Given the description of an element on the screen output the (x, y) to click on. 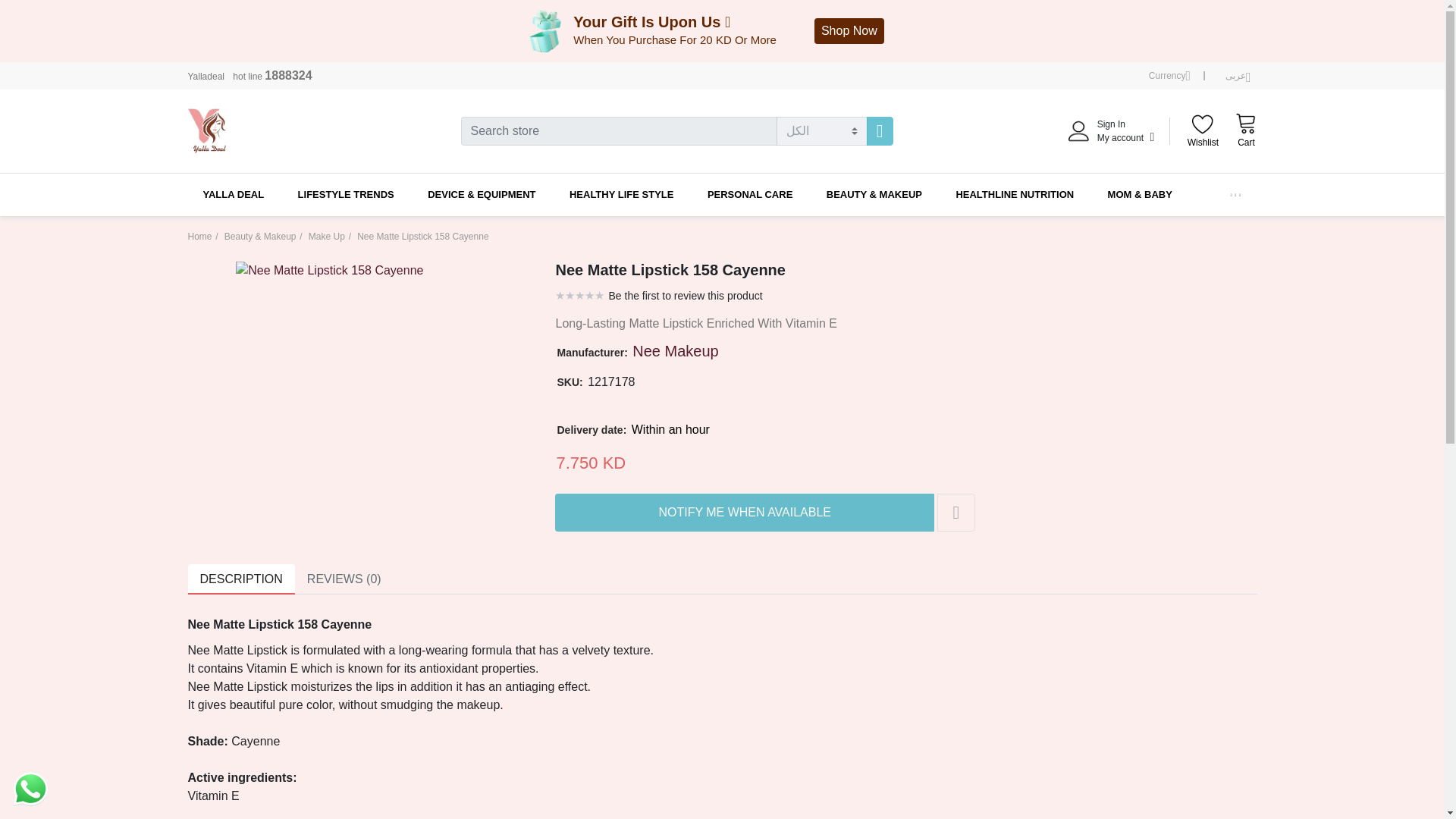
Shop Now (1169, 75)
Notify me when available (848, 31)
Wishlist (744, 512)
Search store (1203, 131)
Nee Matte Lipstick 158 Cayenne (879, 131)
Nee Matte Lipstick 158 Cayenne (329, 270)
Logo (329, 269)
